Given the description of an element on the screen output the (x, y) to click on. 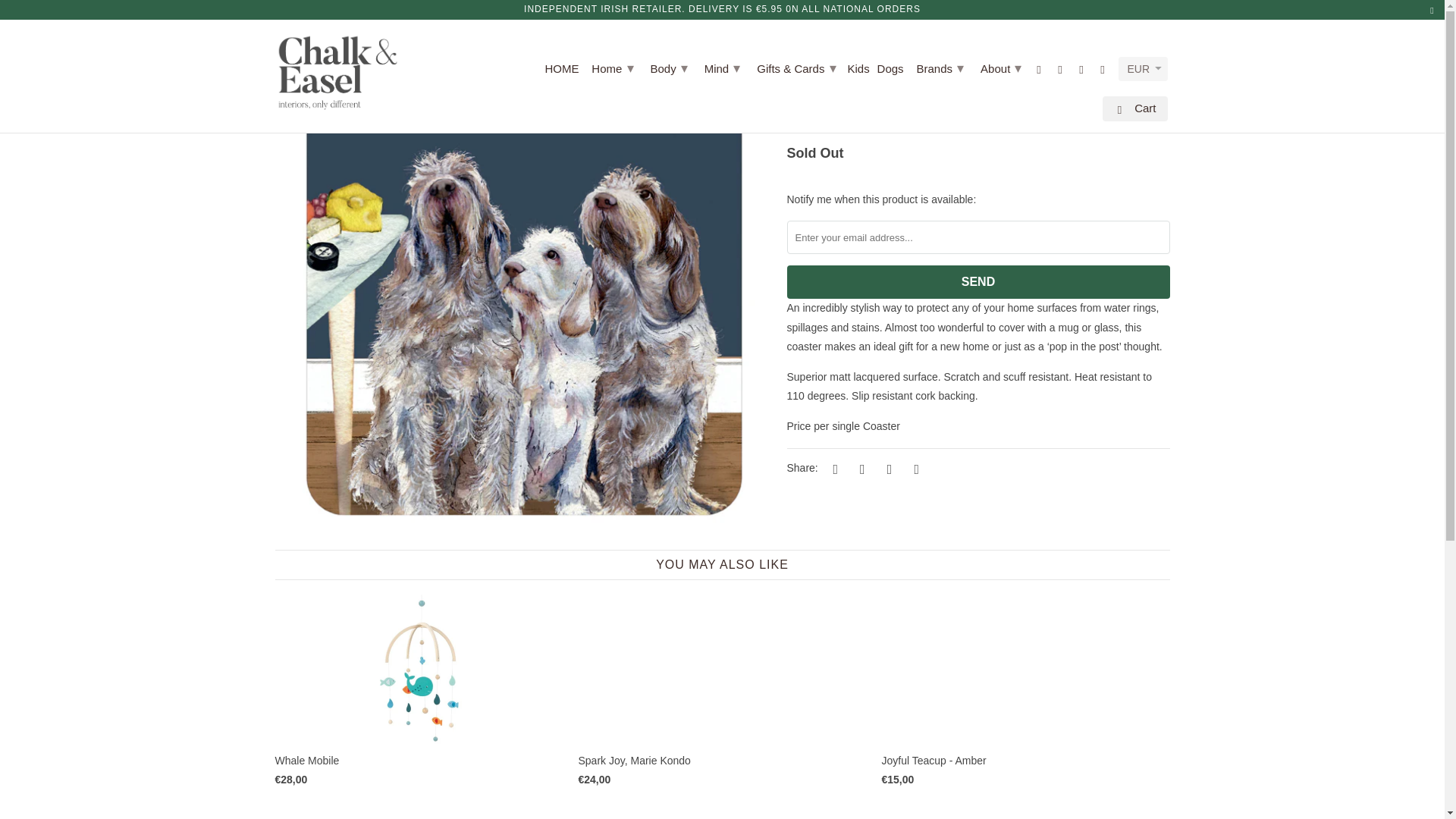
New arrivals 2022 (359, 24)
Send (978, 281)
Share this on Pinterest (887, 468)
Email this to a friend (914, 468)
Share this on Facebook (859, 468)
Share this on Twitter (833, 468)
